Given the description of an element on the screen output the (x, y) to click on. 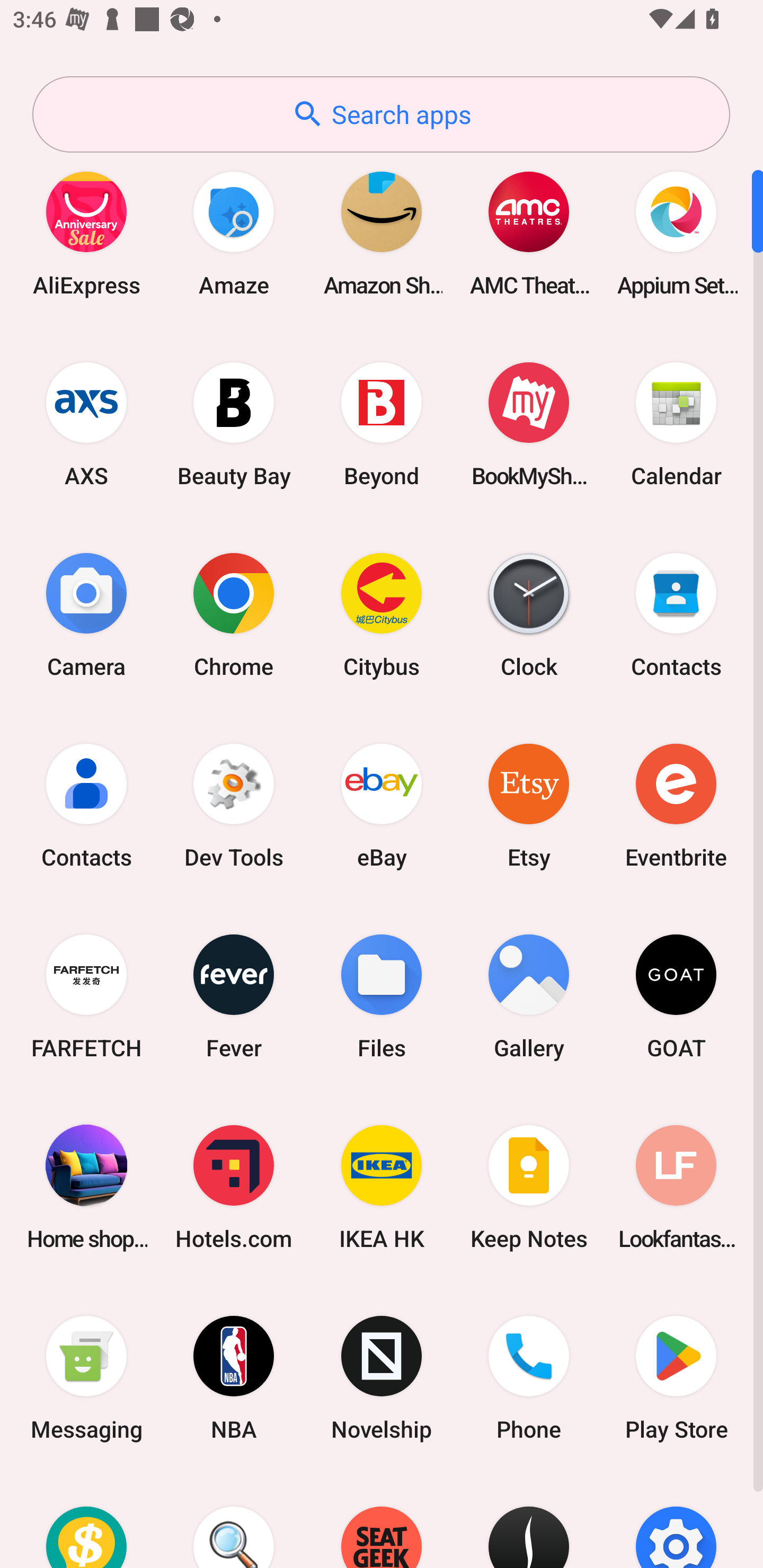
  Search apps (381, 114)
AliExpress (86, 233)
Amaze (233, 233)
Amazon Shopping (381, 233)
AMC Theatres (528, 233)
Appium Settings (676, 233)
AXS (86, 424)
Beauty Bay (233, 424)
Beyond (381, 424)
BookMyShow (528, 424)
Calendar (676, 424)
Camera (86, 614)
Chrome (233, 614)
Citybus (381, 614)
Clock (528, 614)
Contacts (676, 614)
Contacts (86, 805)
Dev Tools (233, 805)
eBay (381, 805)
Etsy (528, 805)
Eventbrite (676, 805)
FARFETCH (86, 996)
Fever (233, 996)
Files (381, 996)
Gallery (528, 996)
GOAT (676, 996)
Home shopping (86, 1186)
Hotels.com (233, 1186)
IKEA HK (381, 1186)
Keep Notes (528, 1186)
Lookfantastic (676, 1186)
Messaging (86, 1377)
NBA (233, 1377)
Novelship (381, 1377)
Phone (528, 1377)
Play Store (676, 1377)
